Given the description of an element on the screen output the (x, y) to click on. 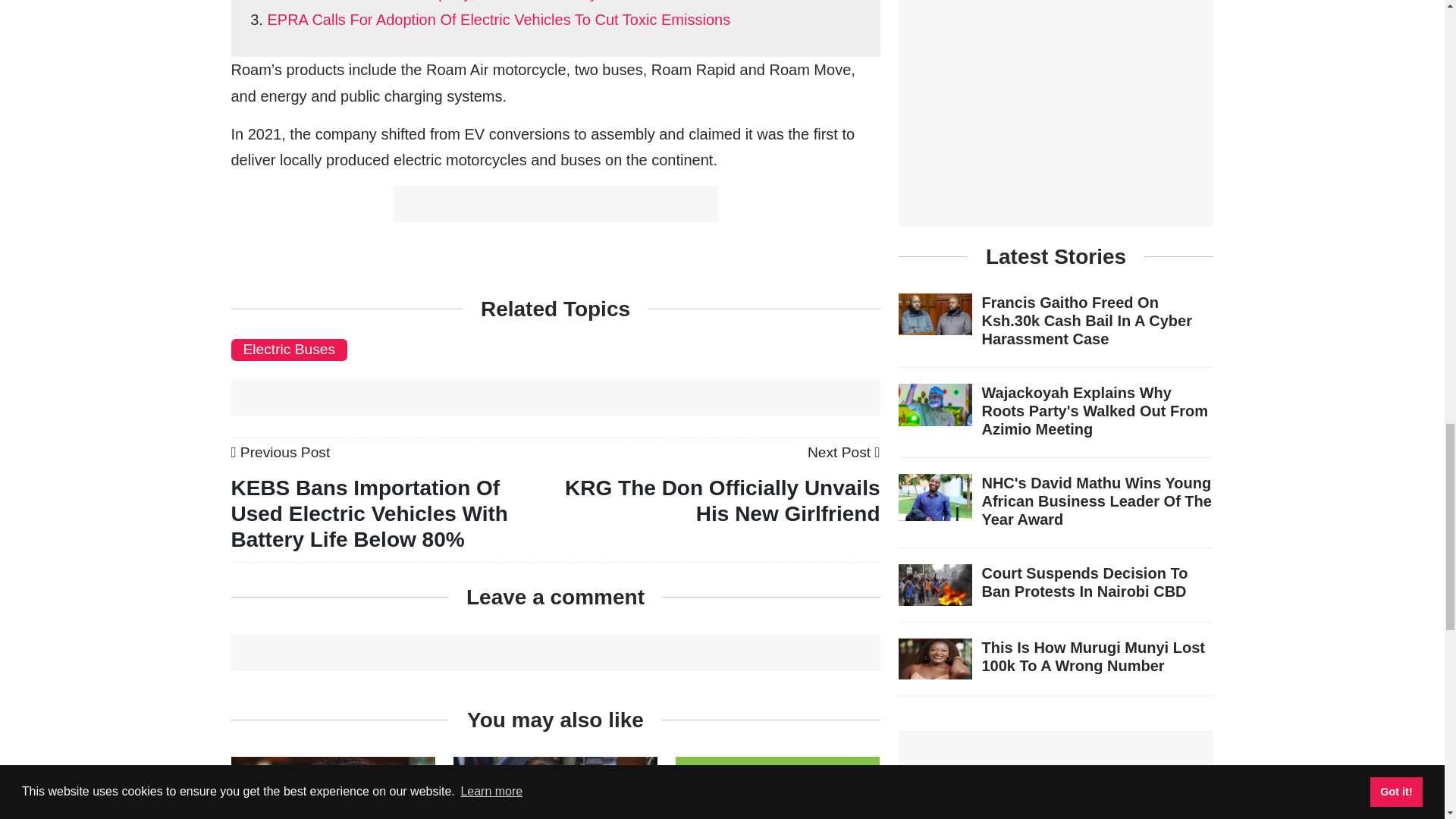
Topic: Electric Buses (288, 349)
KRG The Don Officially Unvails His New Girlfriend (721, 500)
Previous Post (280, 452)
This Is How Murugi Munyi Lost 100k To A Wrong Number (331, 810)
MOGO Injects Kes1Billion In Electric Vehicle Financing (777, 812)
Next Post (844, 452)
Electric Buses (288, 349)
KRG The Don Officially Unvails His New Girlfriend (721, 500)
KRG The Don Officially Unvails His New Girlfriend (844, 452)
